Given the description of an element on the screen output the (x, y) to click on. 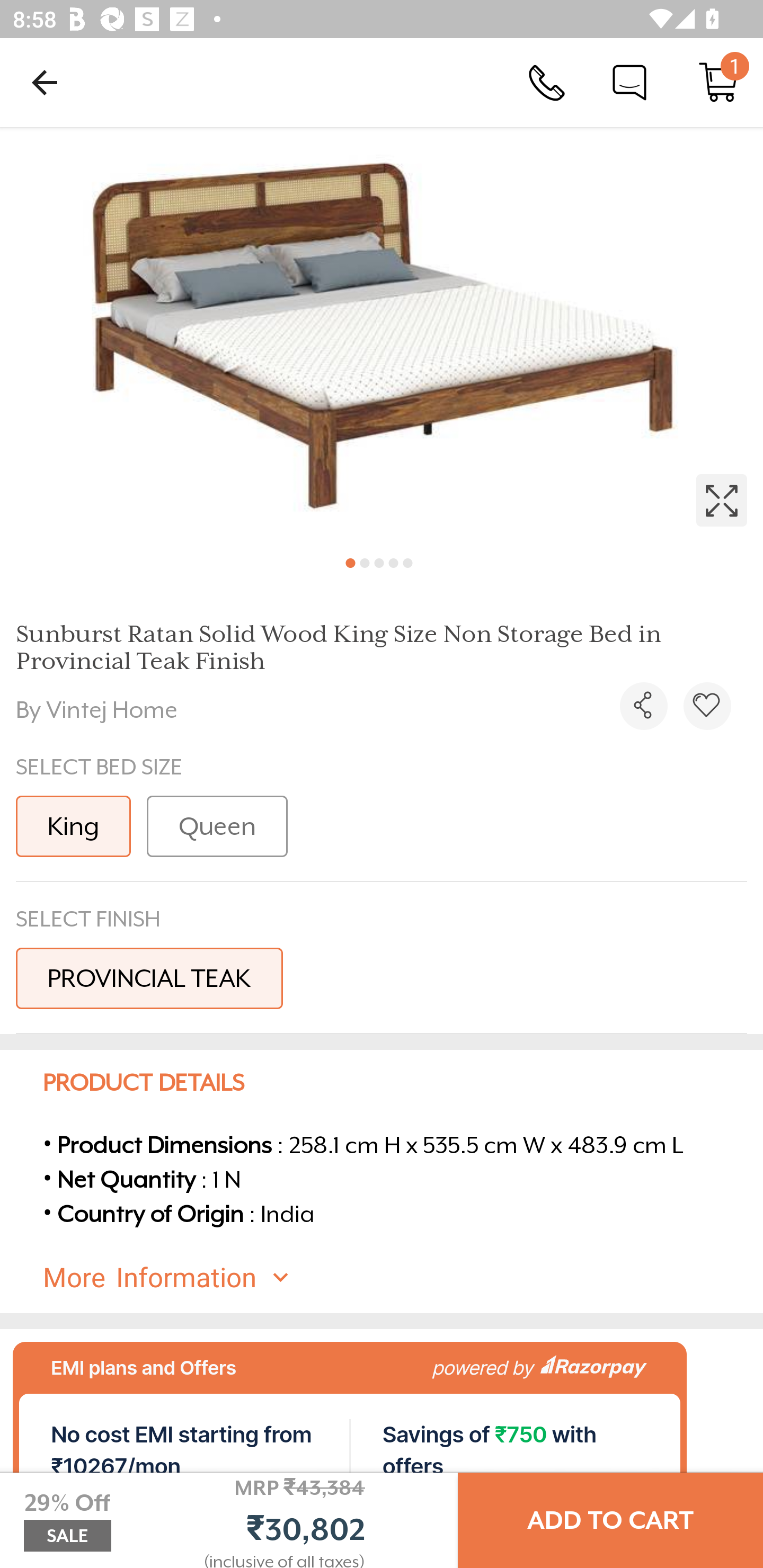
Navigate up (44, 82)
Call Us (546, 81)
Chat (629, 81)
Cart (718, 81)
 (381, 334)
 (643, 706)
 (706, 706)
King (73, 825)
Queen (216, 825)
PROVINCIAL TEAK (149, 978)
More Information  (396, 1277)
ADD TO CART (610, 1520)
